Given the description of an element on the screen output the (x, y) to click on. 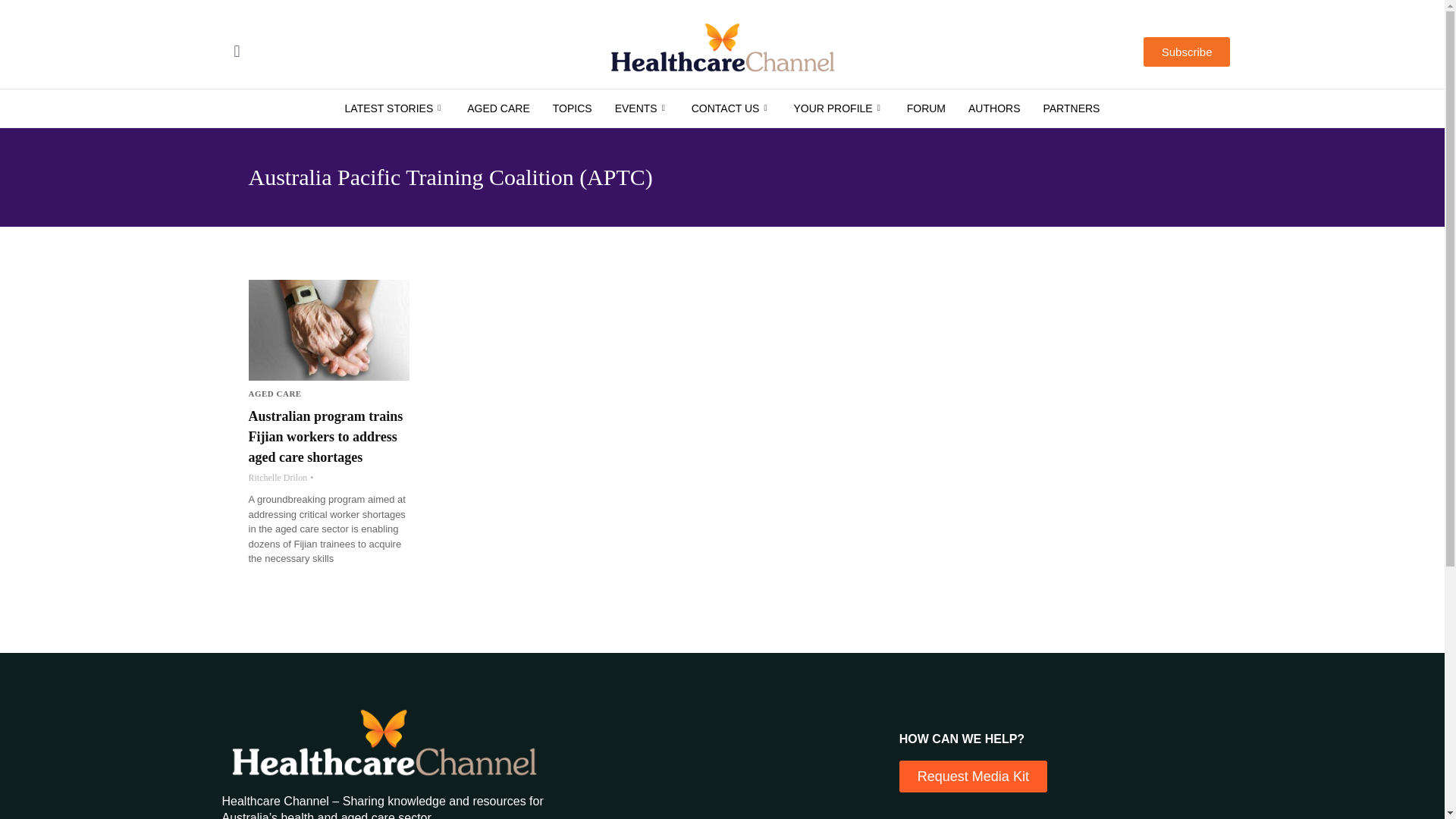
Subscribe (1186, 51)
545 (572, 108)
LATEST STORIES (395, 108)
